Given the description of an element on the screen output the (x, y) to click on. 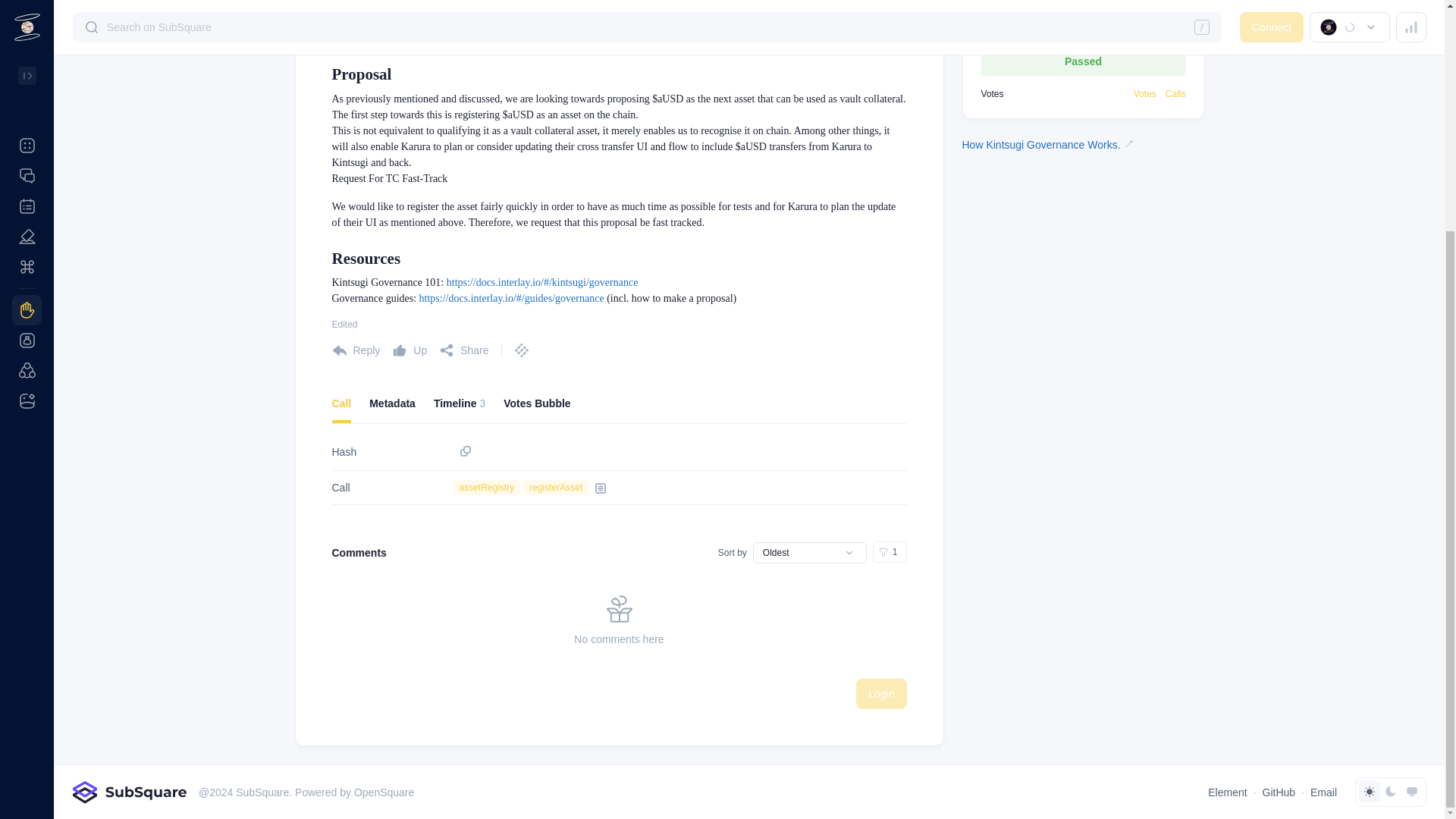
Calls (1176, 93)
Login (880, 693)
Email (1323, 792)
GitHub (1278, 792)
Element (1227, 792)
1 (889, 551)
Votes (619, 408)
